Given the description of an element on the screen output the (x, y) to click on. 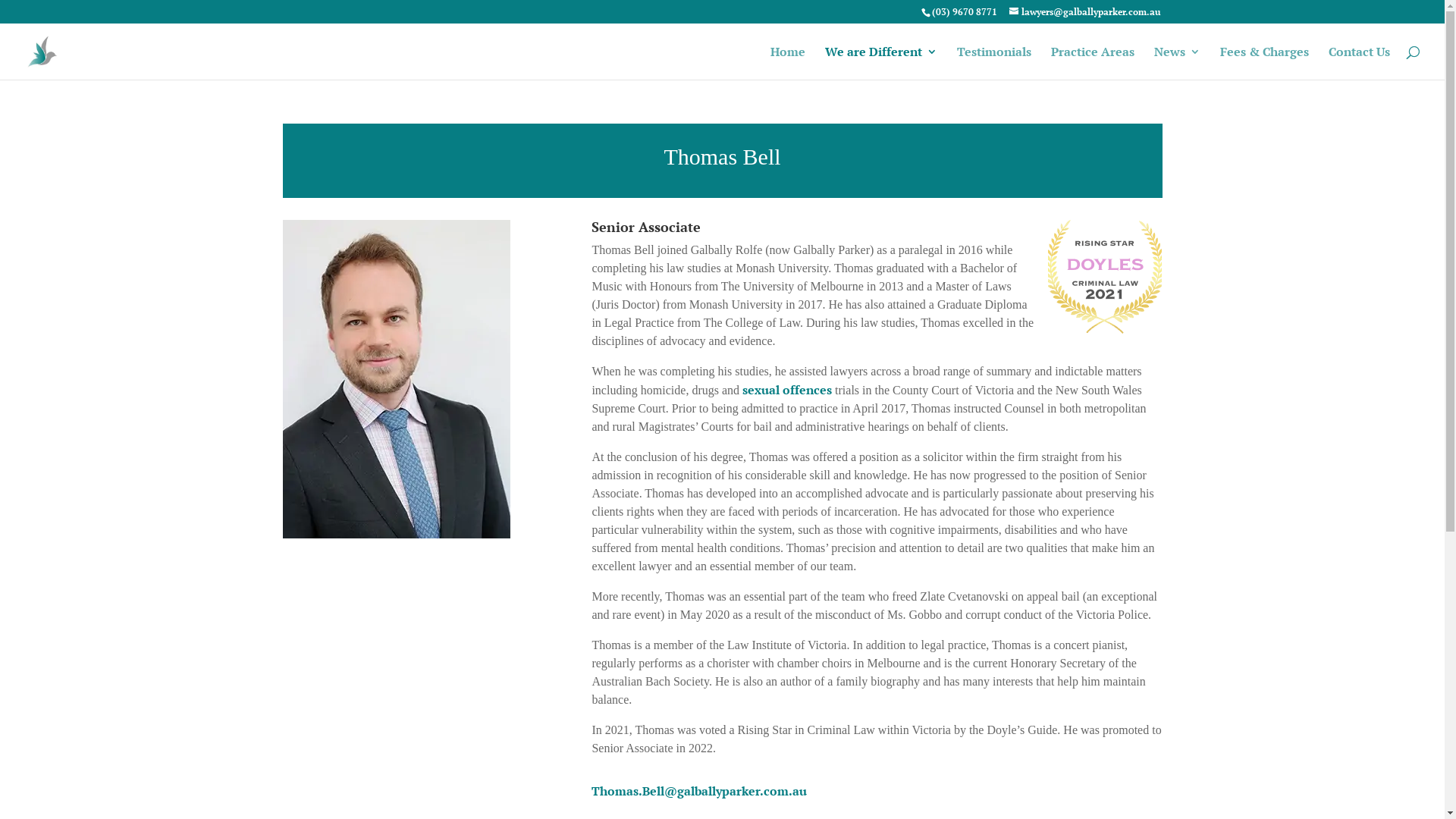
Practice Areas Element type: text (1092, 62)
Testimonials Element type: text (994, 62)
We are Different Element type: text (881, 62)
News Element type: text (1177, 62)
(03) 9670 8771 Element type: text (963, 11)
Home Element type: text (787, 62)
Fees & Charges Element type: text (1264, 62)
lawyers@galballyparker.com.au Element type: text (1083, 11)
Contact Us Element type: text (1359, 62)
Thomas.Bell@galballyparker.com.au Element type: text (698, 790)
sexual offences Element type: text (786, 389)
